Given the description of an element on the screen output the (x, y) to click on. 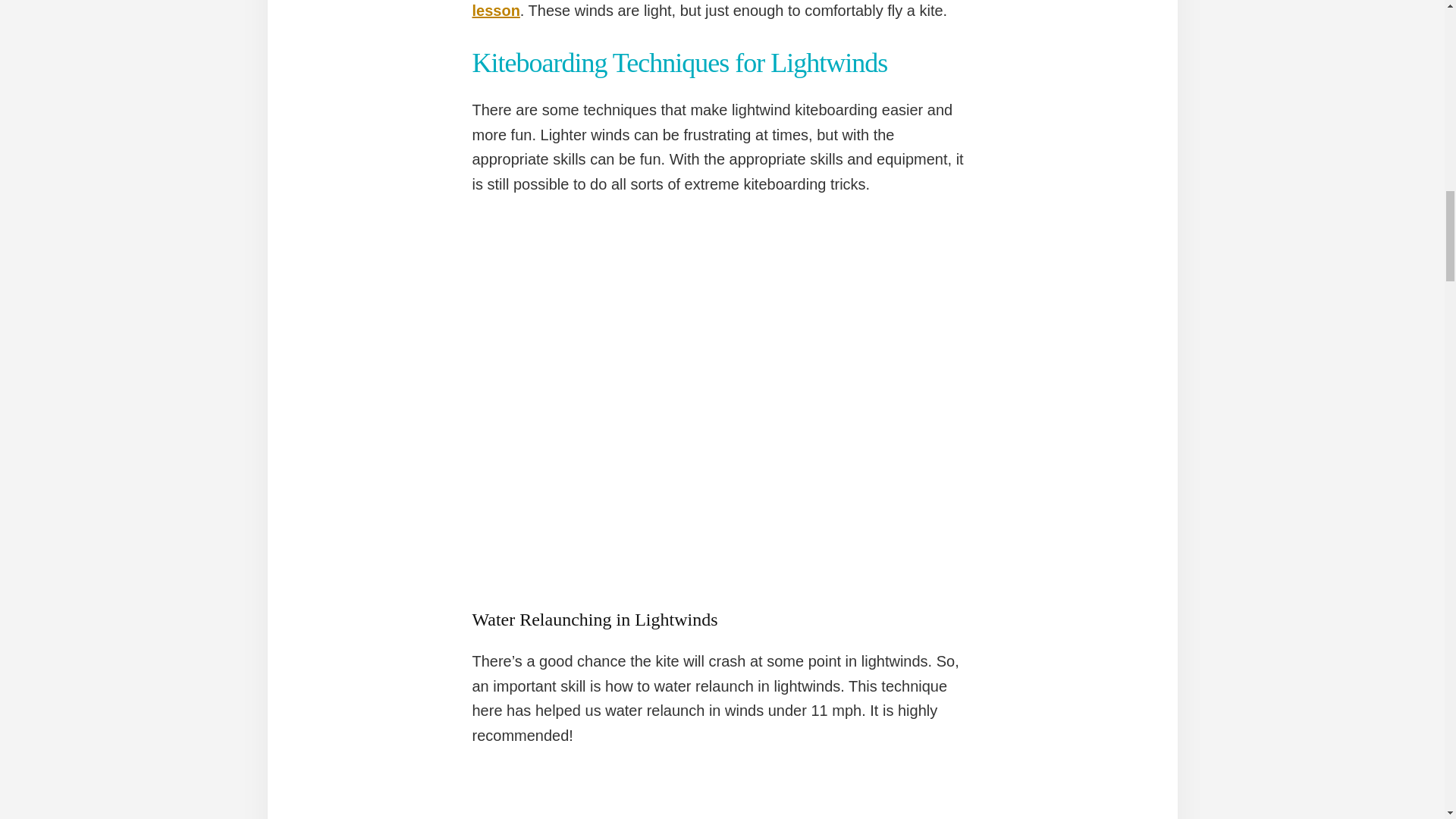
kiteboarding lesson (716, 9)
How to Water Relaunch a Kite in Under 10mph (722, 794)
